Given the description of an element on the screen output the (x, y) to click on. 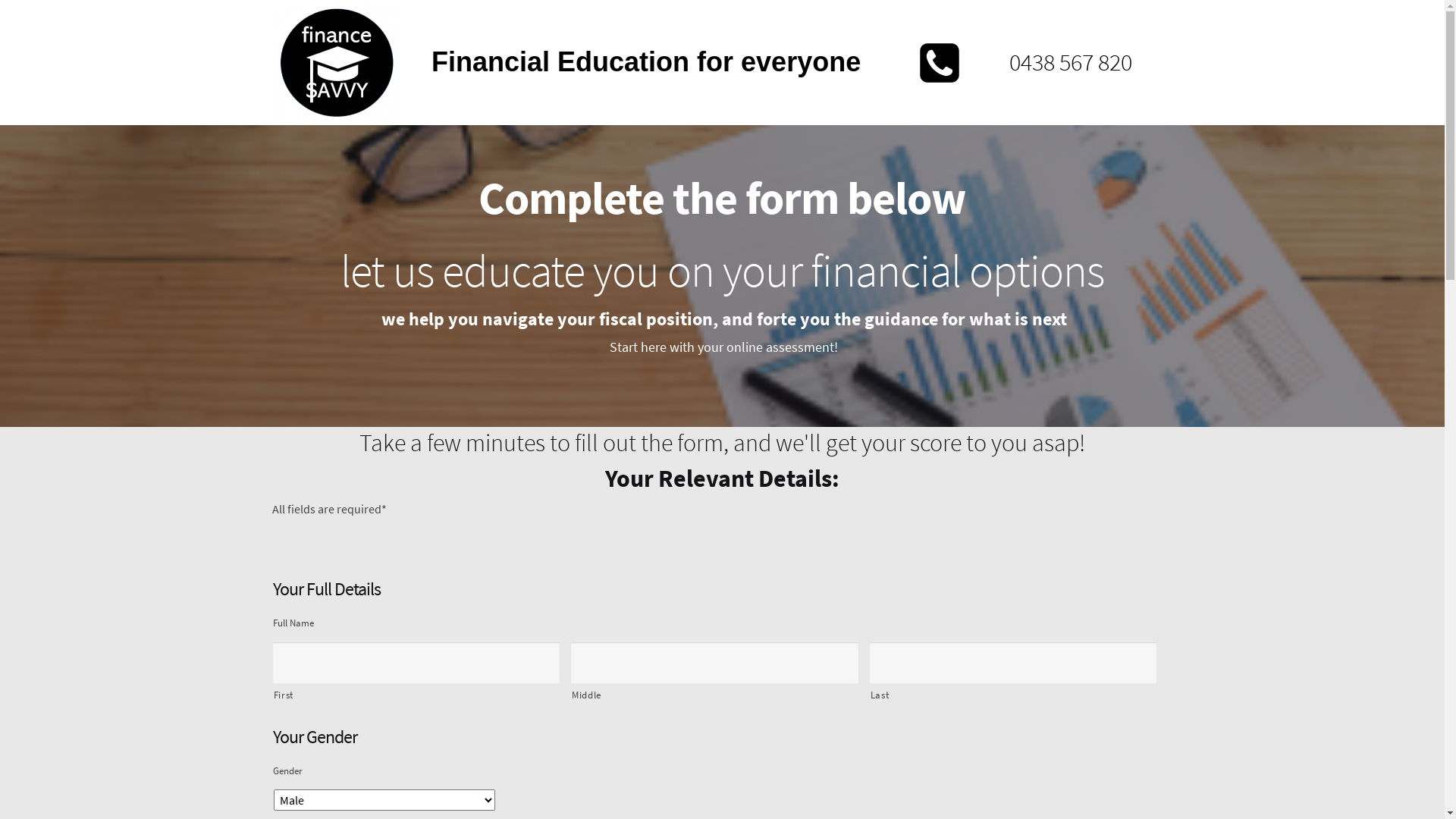
Finance-Savvy-Logo Element type: hover (336, 62)
